Given the description of an element on the screen output the (x, y) to click on. 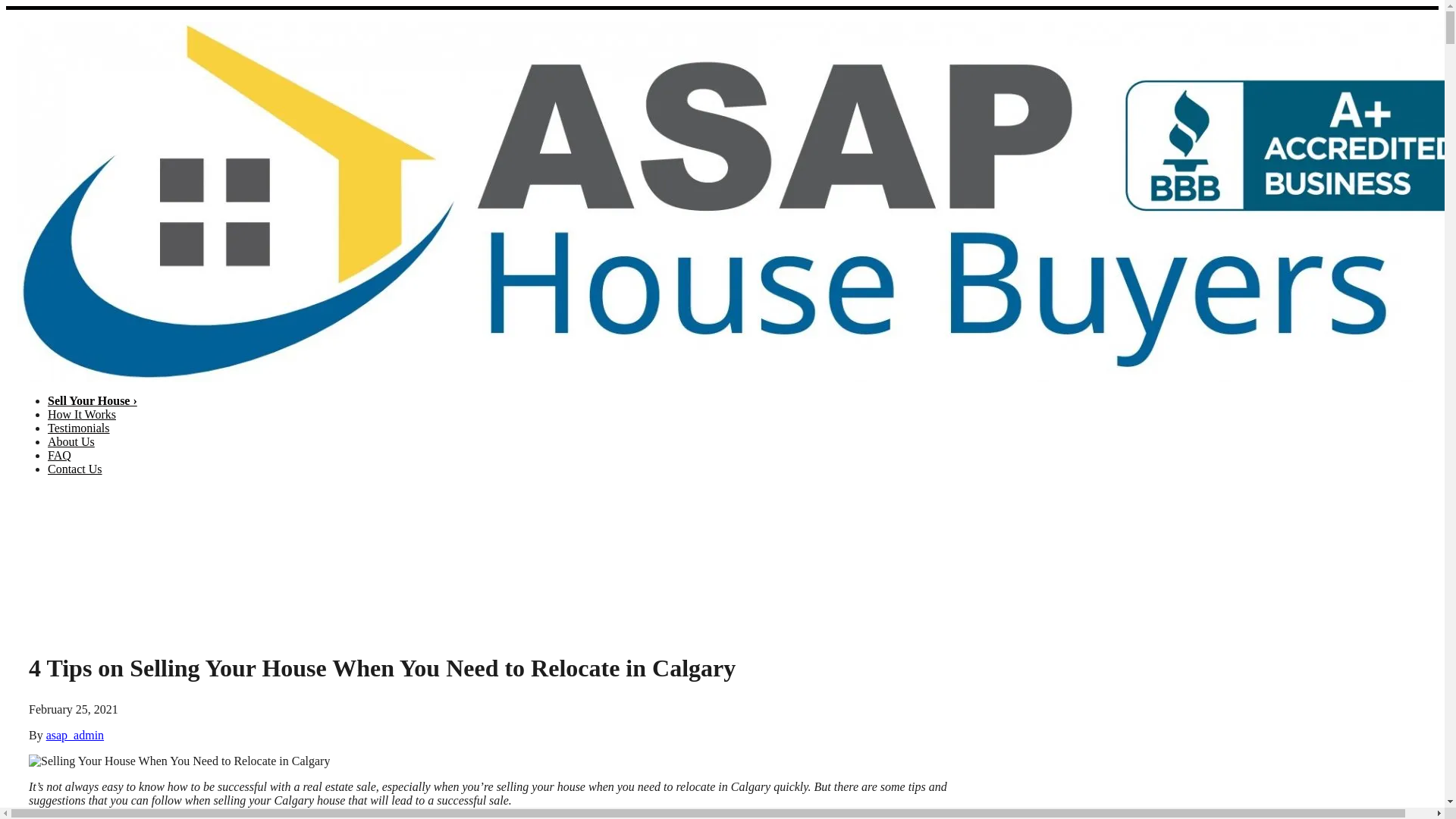
Contact Us Element type: text (74, 468)
About Us Element type: text (70, 441)
How It Works Element type: text (81, 413)
asap_admin Element type: text (74, 734)
Get A Cash Offer Today Element type: text (1386, 567)
Testimonials Element type: text (78, 427)
FAQ Element type: text (59, 454)
